Given the description of an element on the screen output the (x, y) to click on. 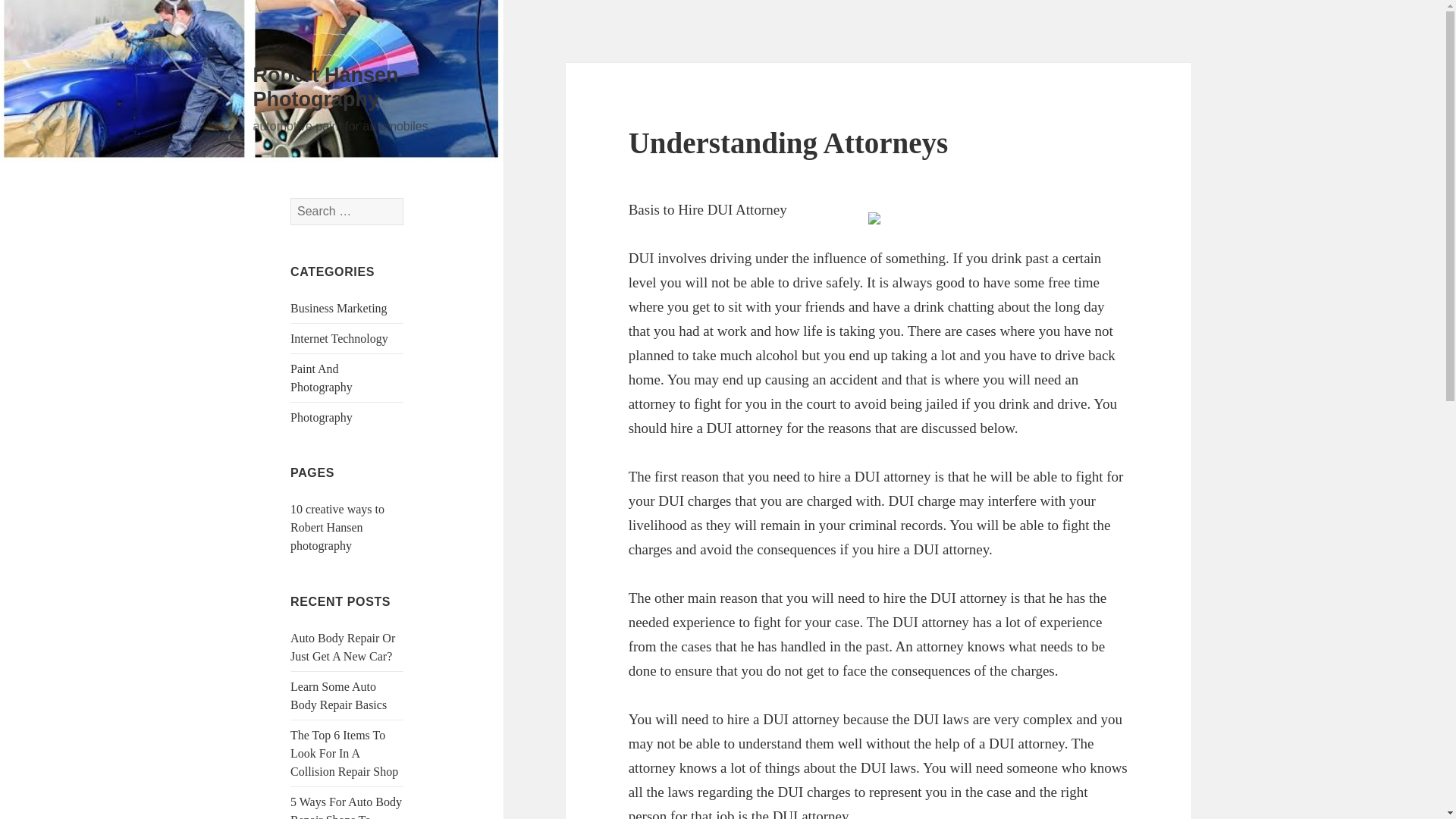
Learn Some Auto Body Repair Basics (338, 695)
The Top 6 Items To Look For In A Collision Repair Shop (343, 753)
Internet Technology (338, 338)
Photography (320, 417)
Auto Body Repair Or Just Get A New Car? (341, 646)
Business Marketing (338, 308)
Robert Hansen Photography (325, 86)
Paint And Photography (320, 377)
10 creative ways to Robert Hansen photography (336, 527)
